Given the description of an element on the screen output the (x, y) to click on. 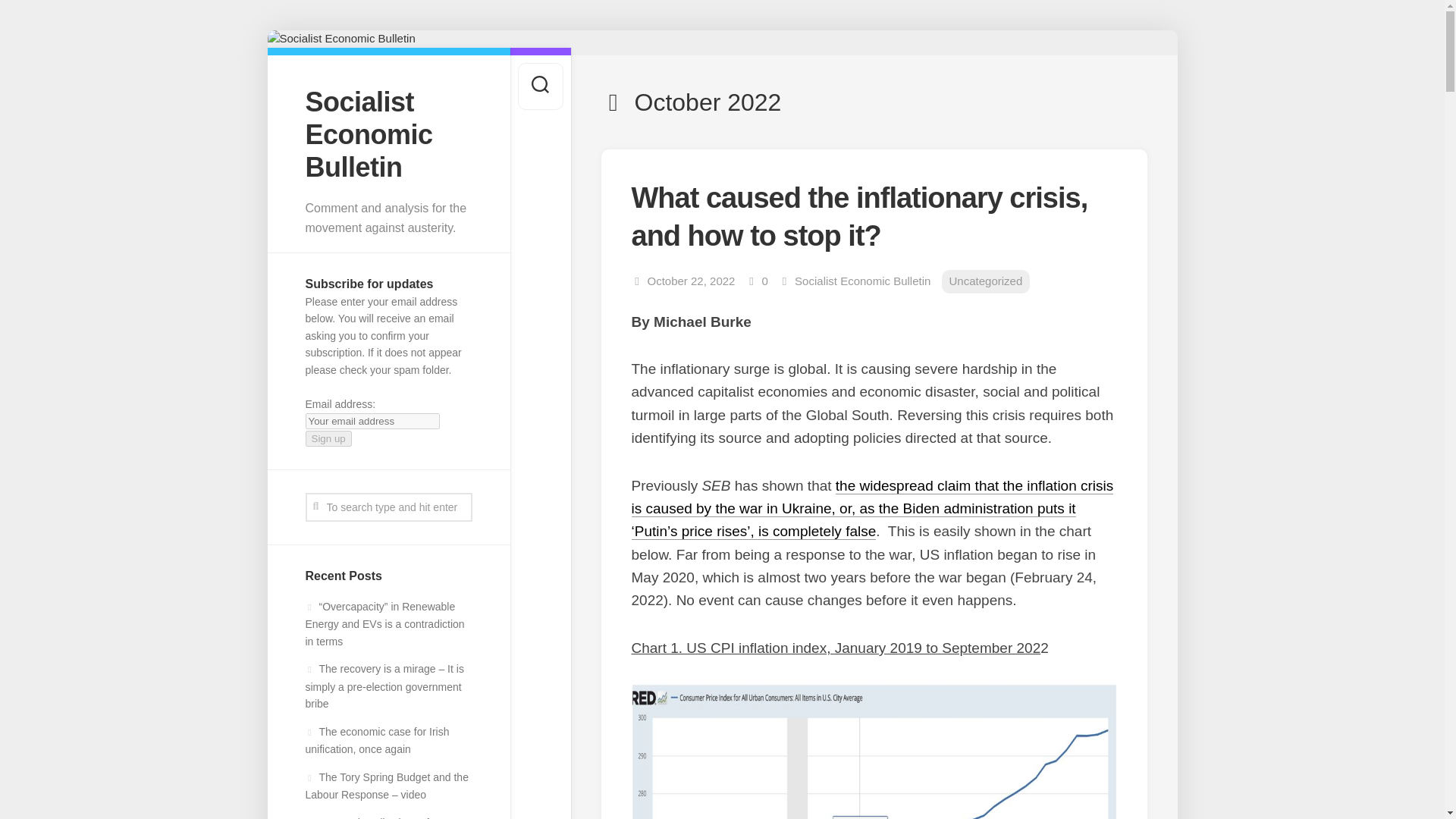
The economic case for Irish unification, once again (376, 740)
Posts by Socialist Economic Bulletin (862, 280)
Socialist Economic Bulletin (387, 134)
To search type and hit enter (387, 507)
Sign up (327, 438)
Sign up (327, 438)
To search type and hit enter (387, 507)
